Given the description of an element on the screen output the (x, y) to click on. 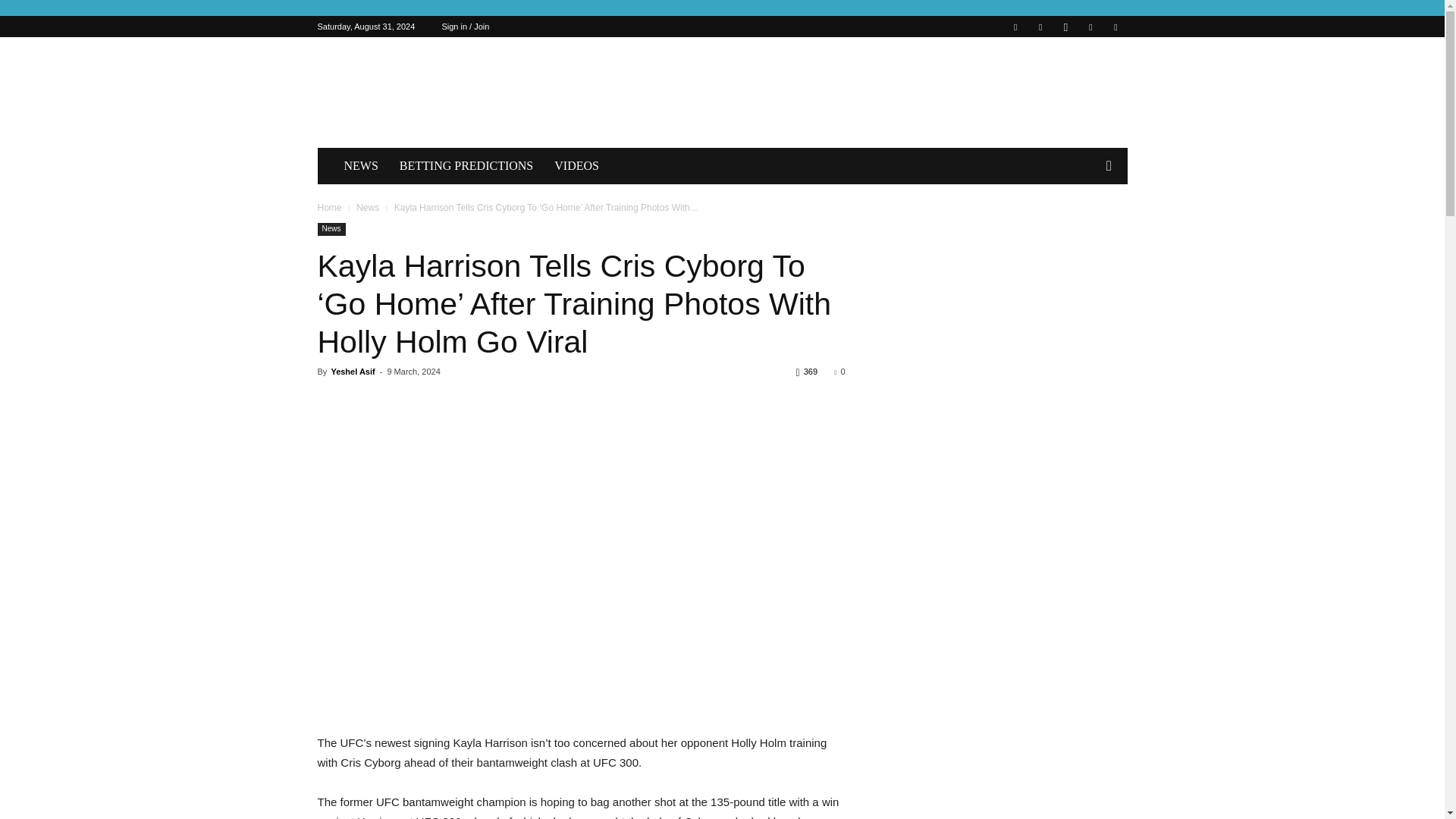
View all posts in News (367, 207)
NEWS (360, 166)
Youtube (1114, 25)
Instagram (1065, 25)
Facebook (1015, 25)
Twitter (1090, 25)
